Given the description of an element on the screen output the (x, y) to click on. 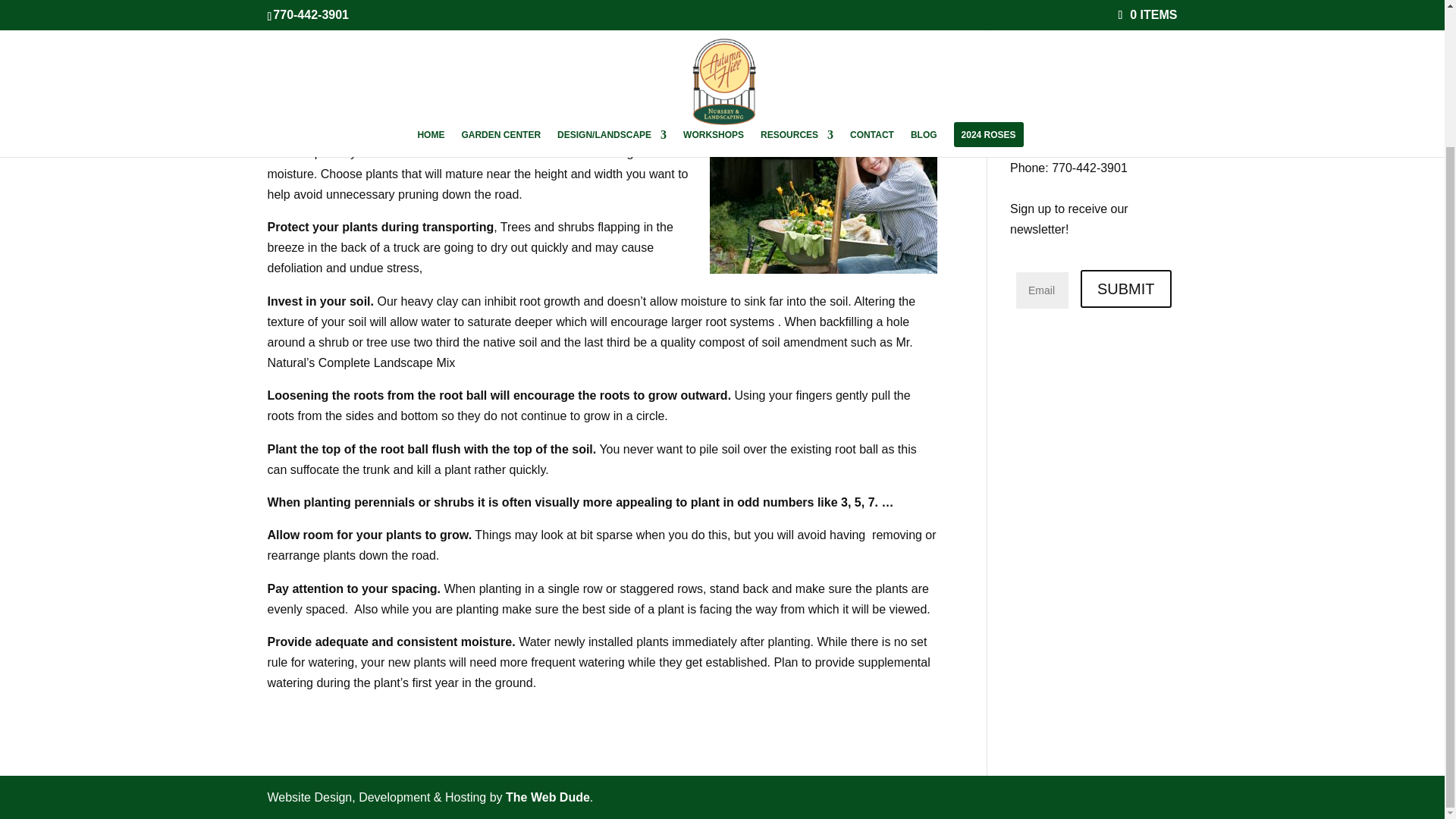
Posts by eric (289, 72)
Submit (1126, 288)
